Given the description of an element on the screen output the (x, y) to click on. 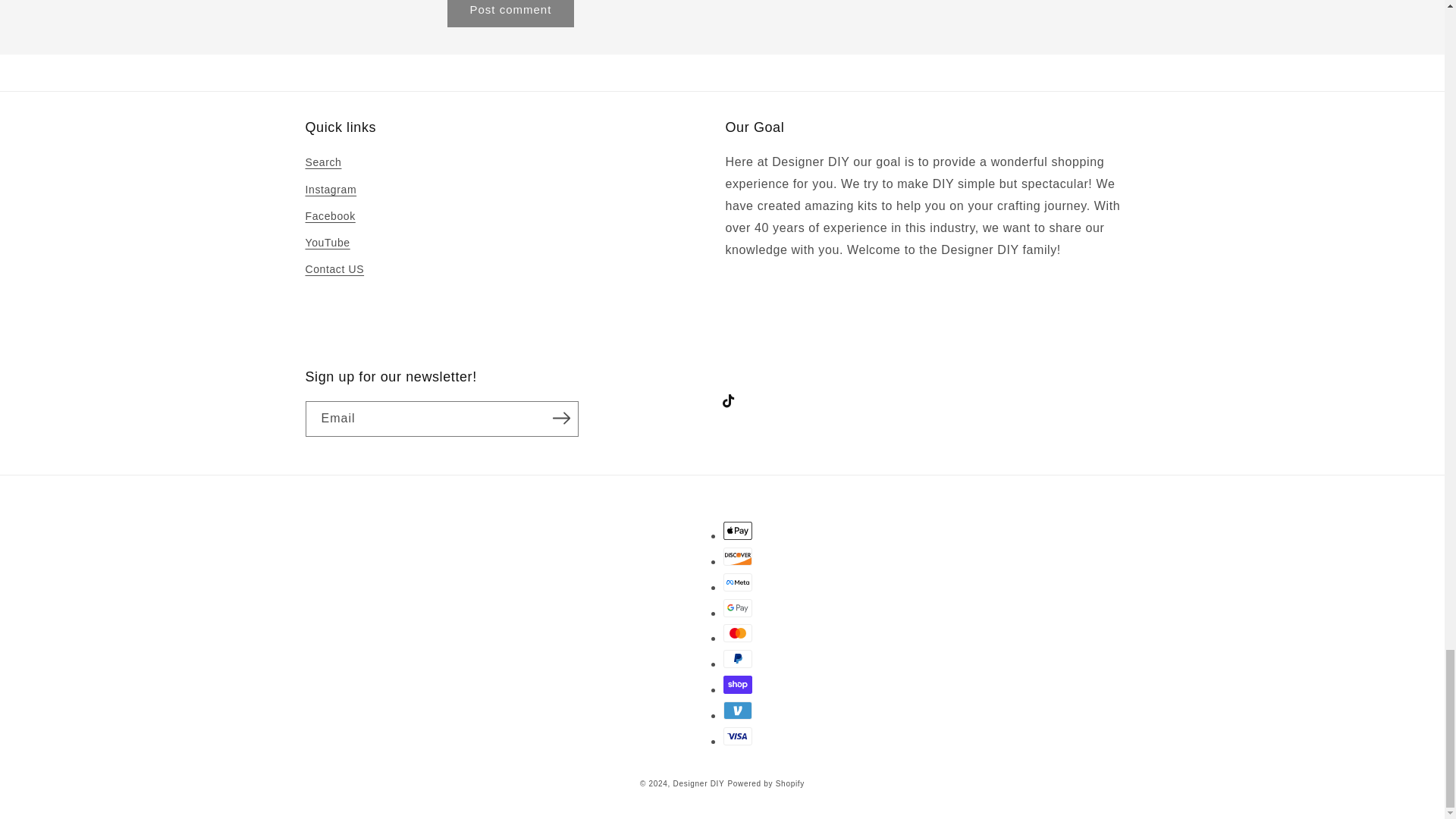
Venmo (737, 710)
Mastercard (737, 633)
Visa (737, 736)
Discover (737, 556)
PayPal (737, 659)
Meta Pay (737, 582)
Apple Pay (737, 530)
Shop Pay (737, 684)
Post comment (510, 13)
Google Pay (737, 607)
